Given the description of an element on the screen output the (x, y) to click on. 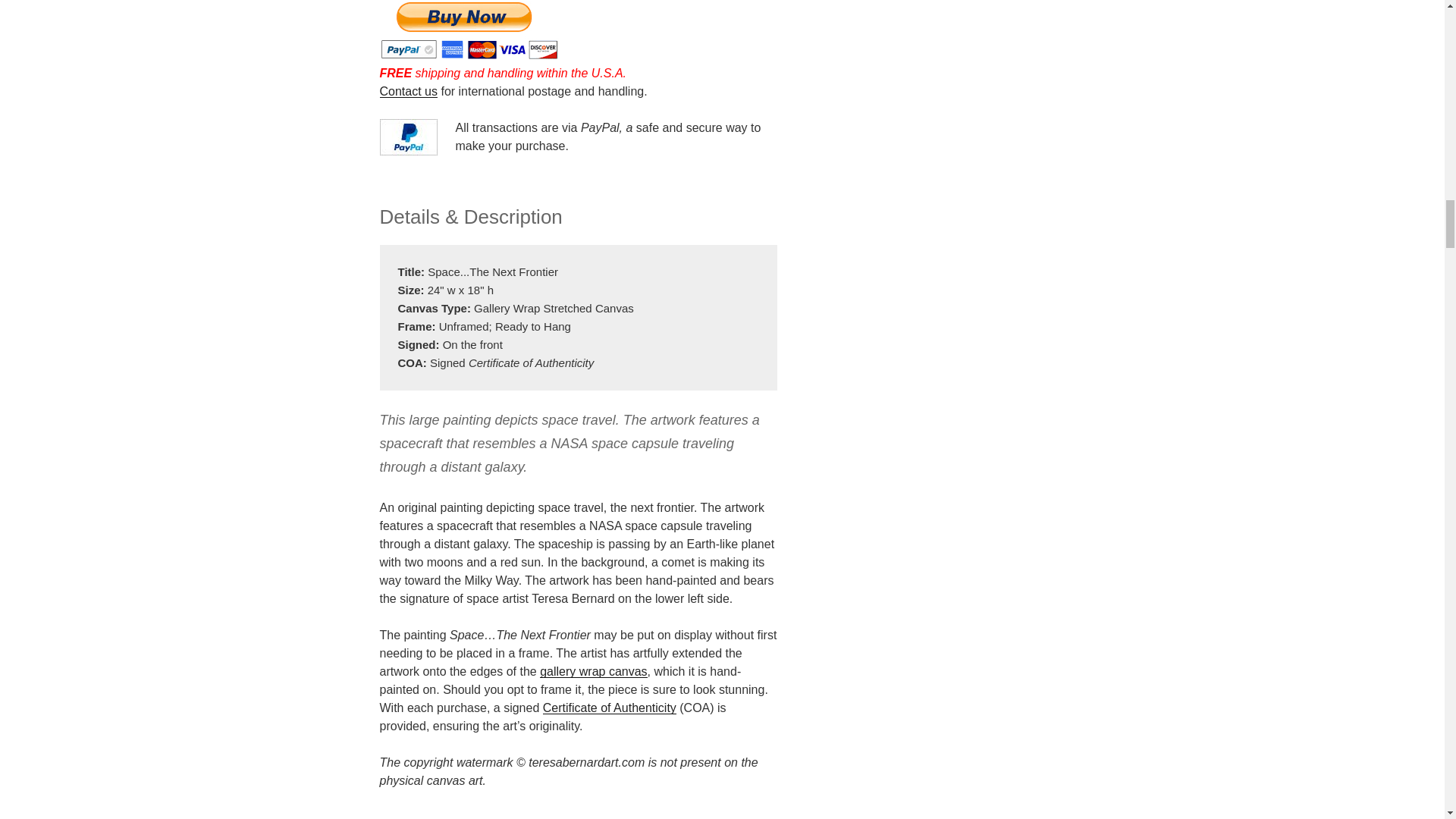
PayPal - The safer, easier way to pay online! (467, 29)
gallery wrap canvas (593, 671)
Contact us (407, 91)
Certificate of Authenticity (610, 707)
